Given the description of an element on the screen output the (x, y) to click on. 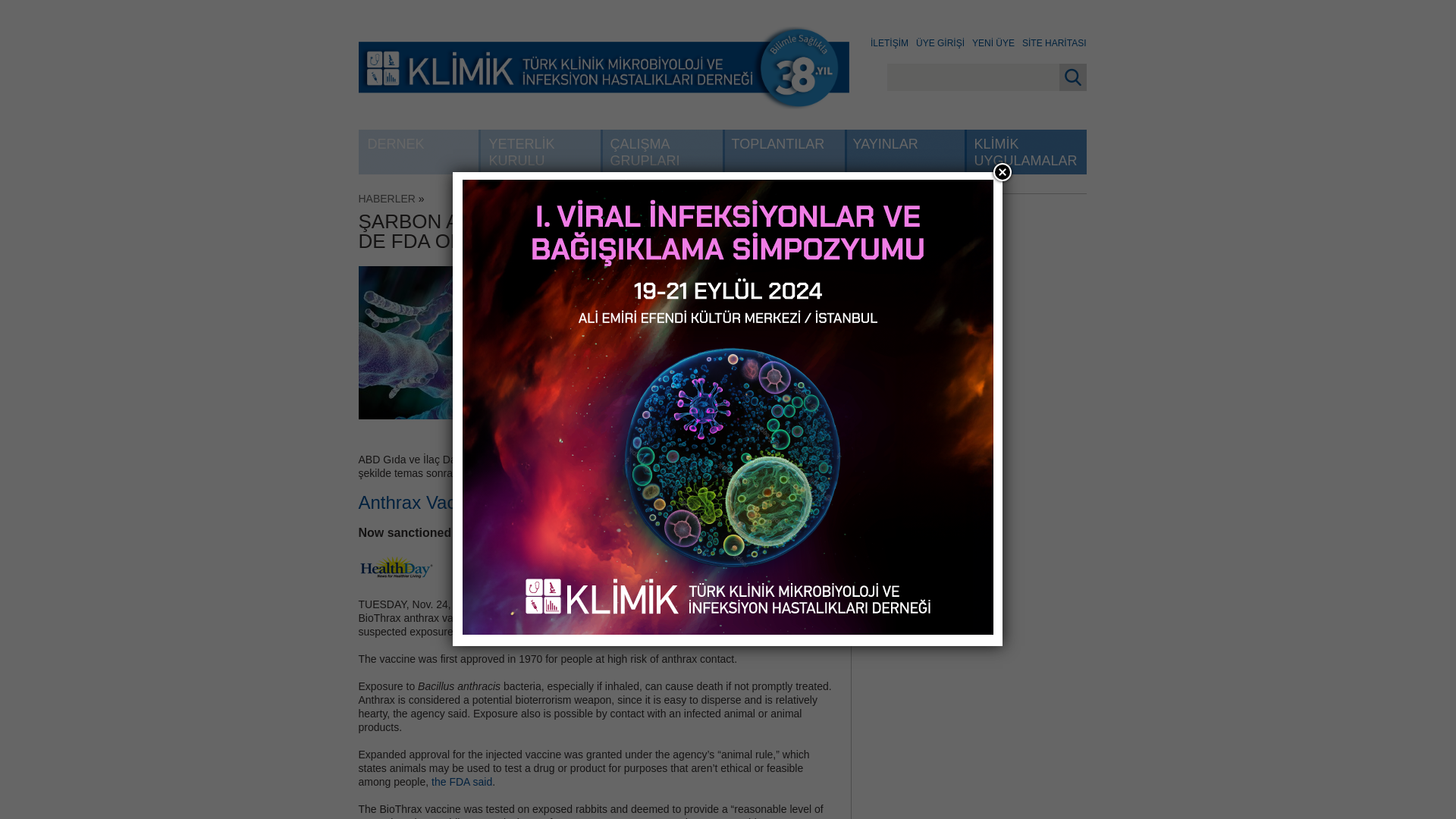
Close (1002, 171)
healthday (395, 566)
Ara (1072, 76)
DERNEK (419, 151)
